Given the description of an element on the screen output the (x, y) to click on. 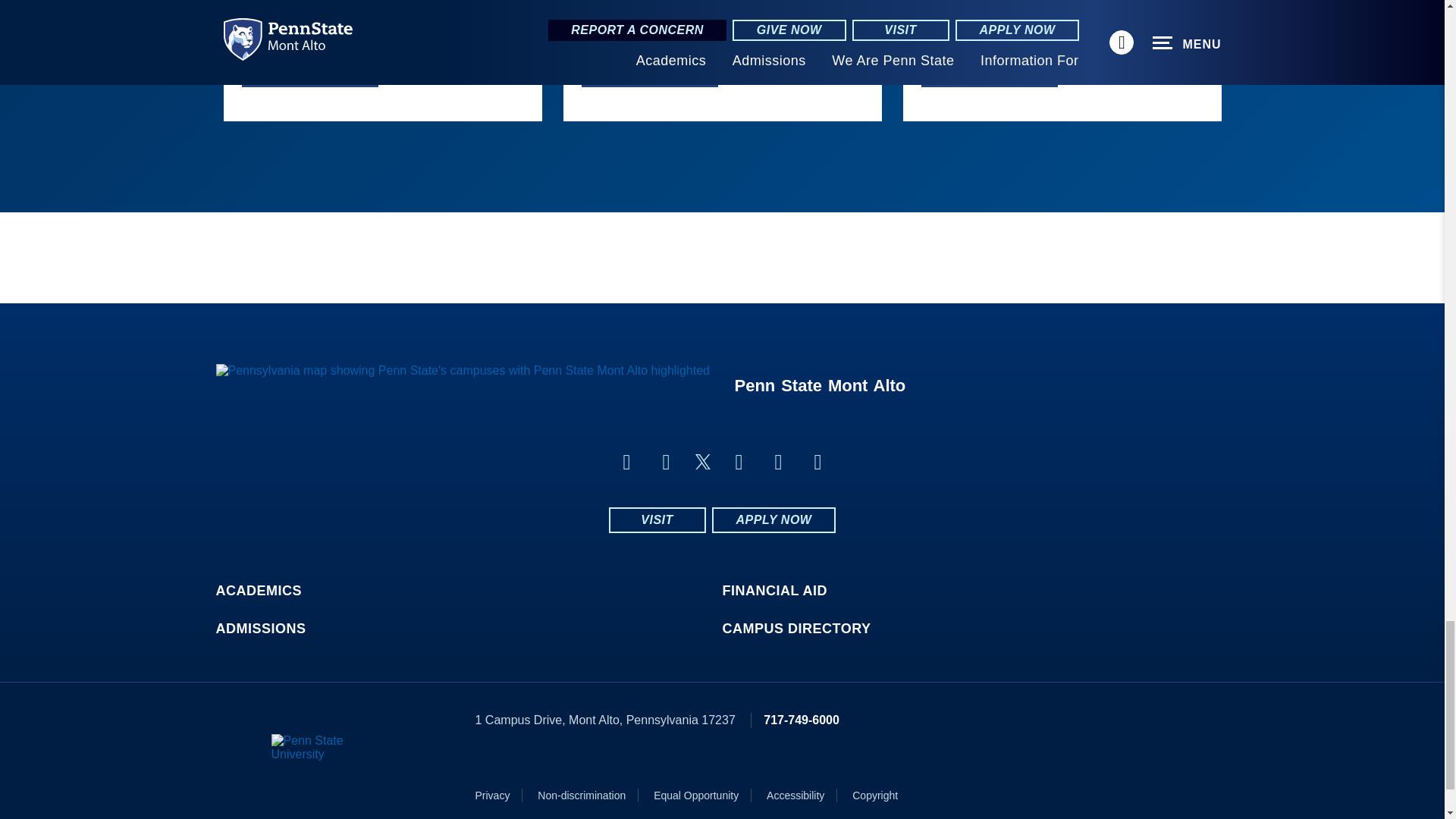
facebook (626, 462)
flickr (738, 462)
youtube (778, 462)
linkedin (666, 462)
